Given the description of an element on the screen output the (x, y) to click on. 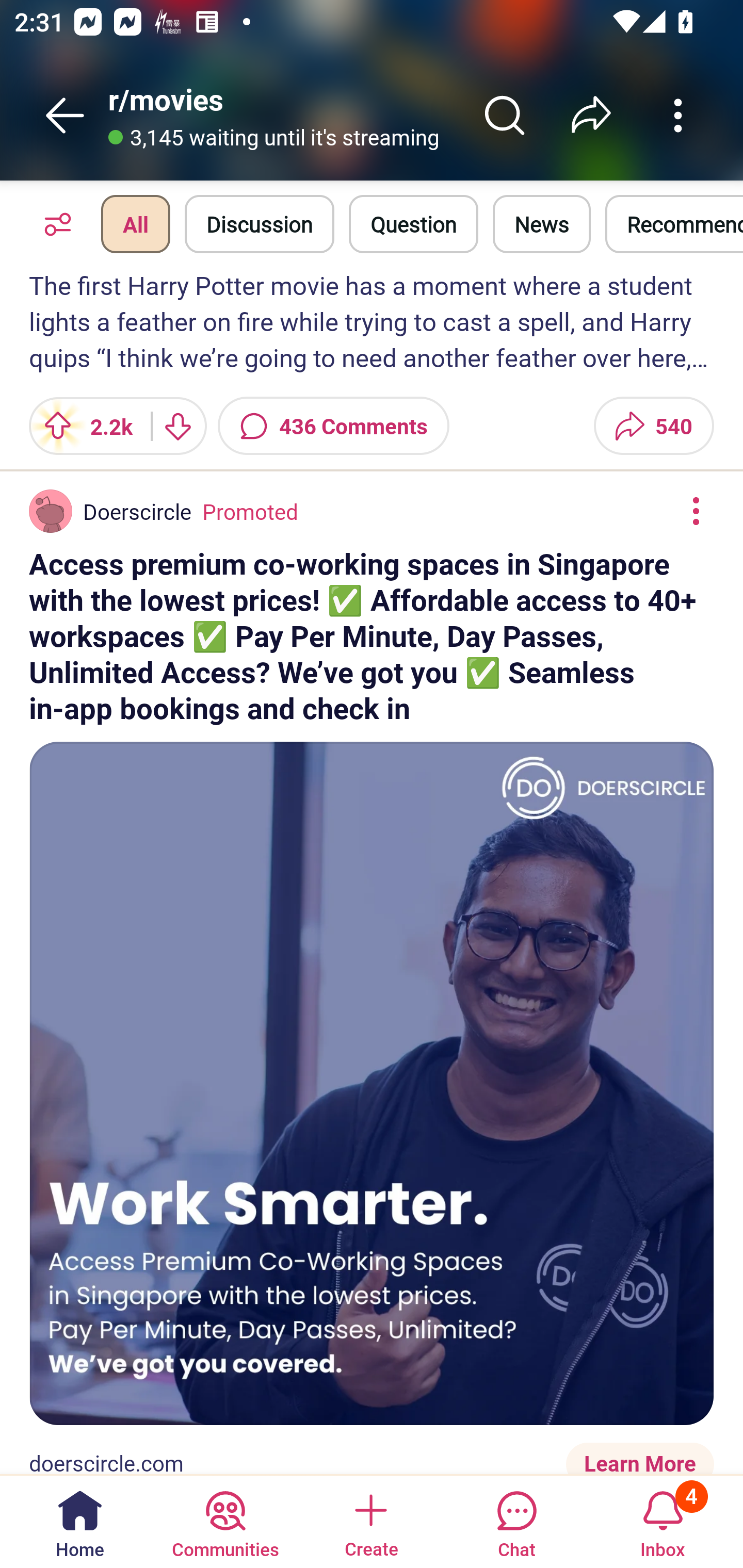
Back (64, 115)
Search r/﻿movies (504, 115)
Share r/﻿movies (591, 115)
More community actions (677, 115)
Feed Options (53, 224)
All (135, 224)
Discussion (259, 224)
Question (413, 224)
News (541, 224)
Recommendation (674, 224)
Home (80, 1520)
Communities (225, 1520)
Create a post Create (370, 1520)
Chat (516, 1520)
Inbox, has 4 notifications 4 Inbox (662, 1520)
